Given the description of an element on the screen output the (x, y) to click on. 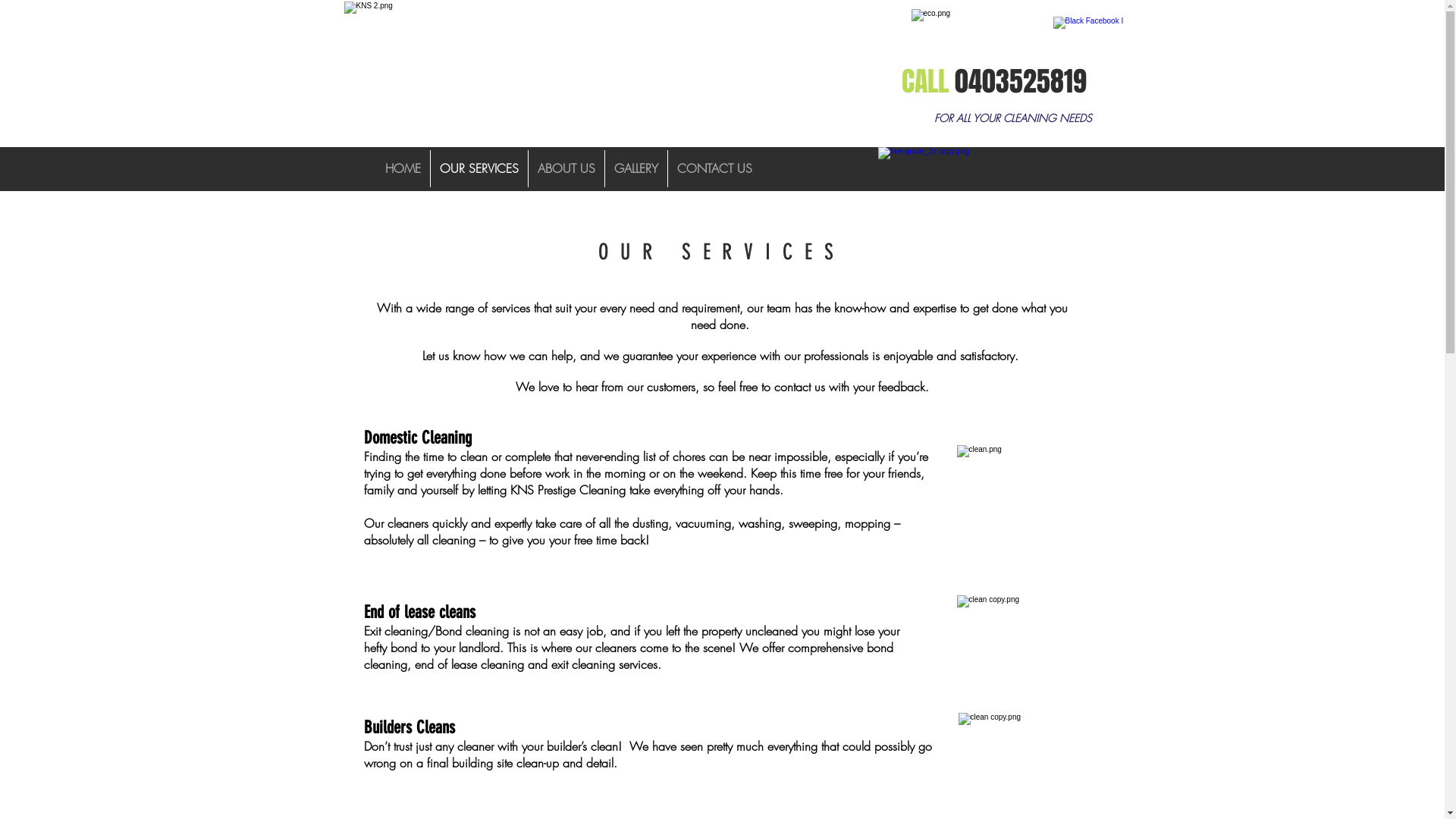
OUR SERVICES Element type: text (478, 168)
HOME Element type: text (402, 168)
CONTACT US Element type: text (713, 168)
GALLERY Element type: text (636, 168)
ABOUT US Element type: text (565, 168)
0403525819 Element type: text (1019, 81)
